Given the description of an element on the screen output the (x, y) to click on. 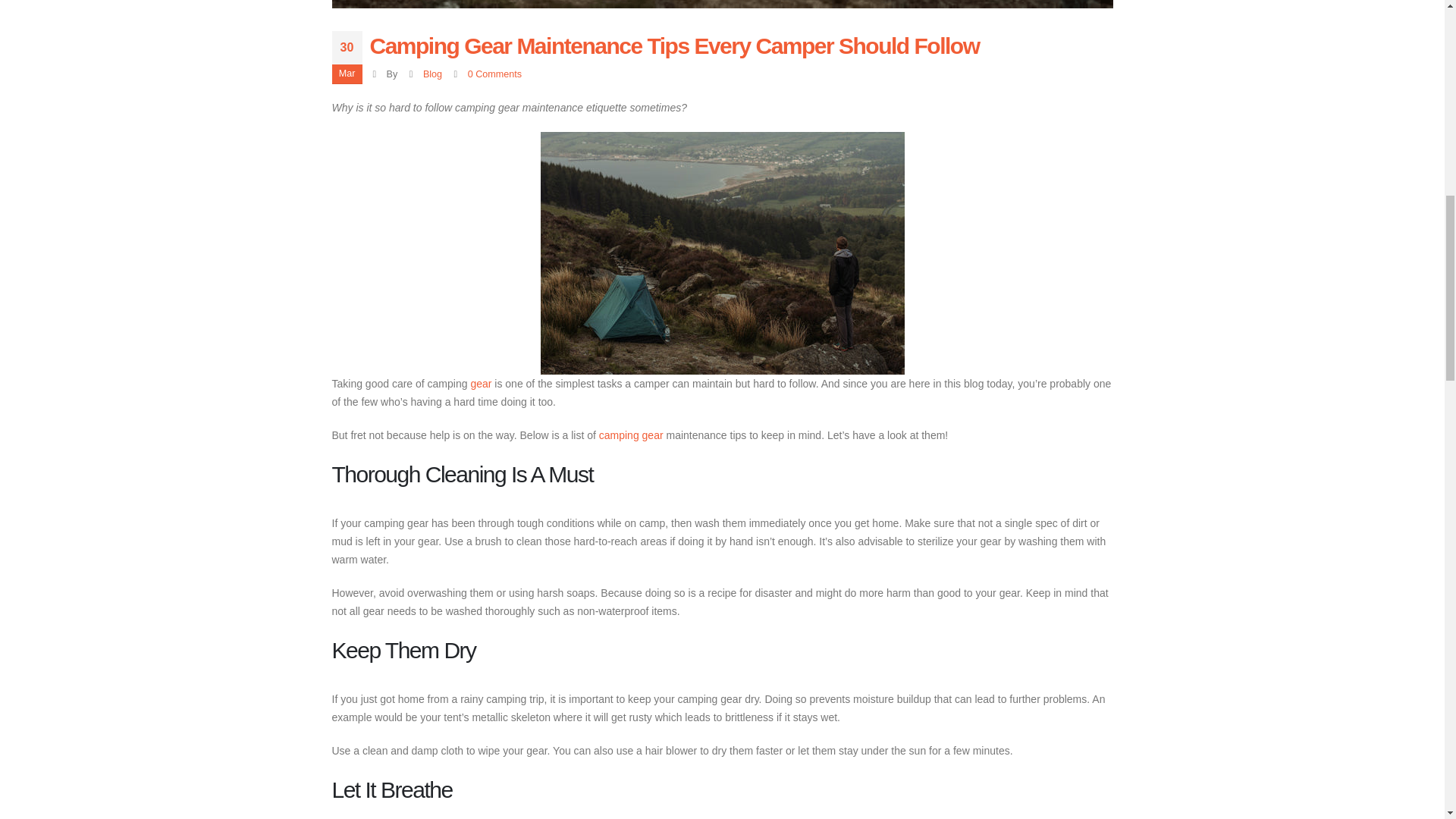
0 Comments (494, 73)
